Given the description of an element on the screen output the (x, y) to click on. 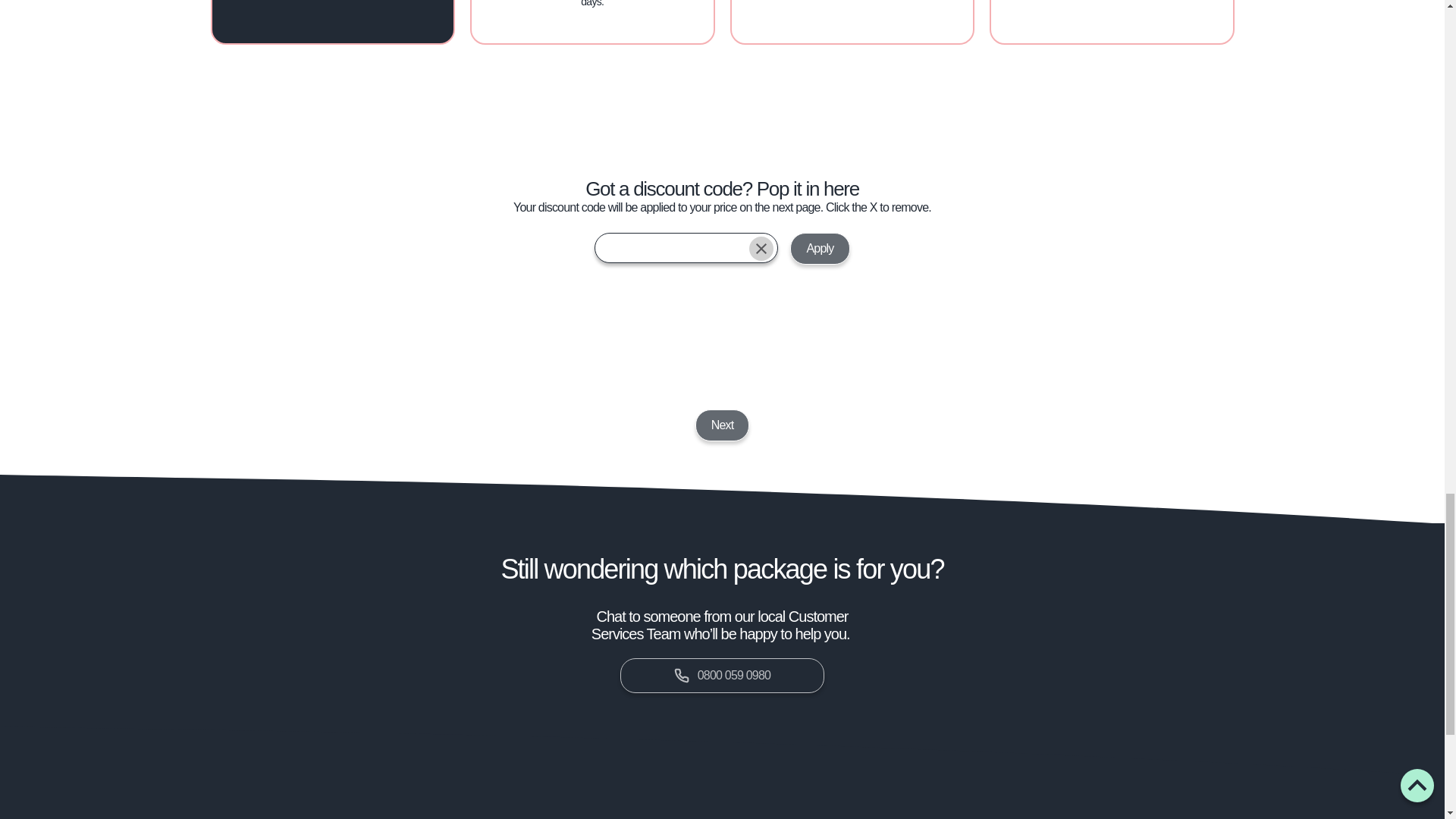
   0800 059 0980 (722, 675)
   0800 059 0980 (722, 675)
Apply (819, 248)
Next (722, 425)
